Given the description of an element on the screen output the (x, y) to click on. 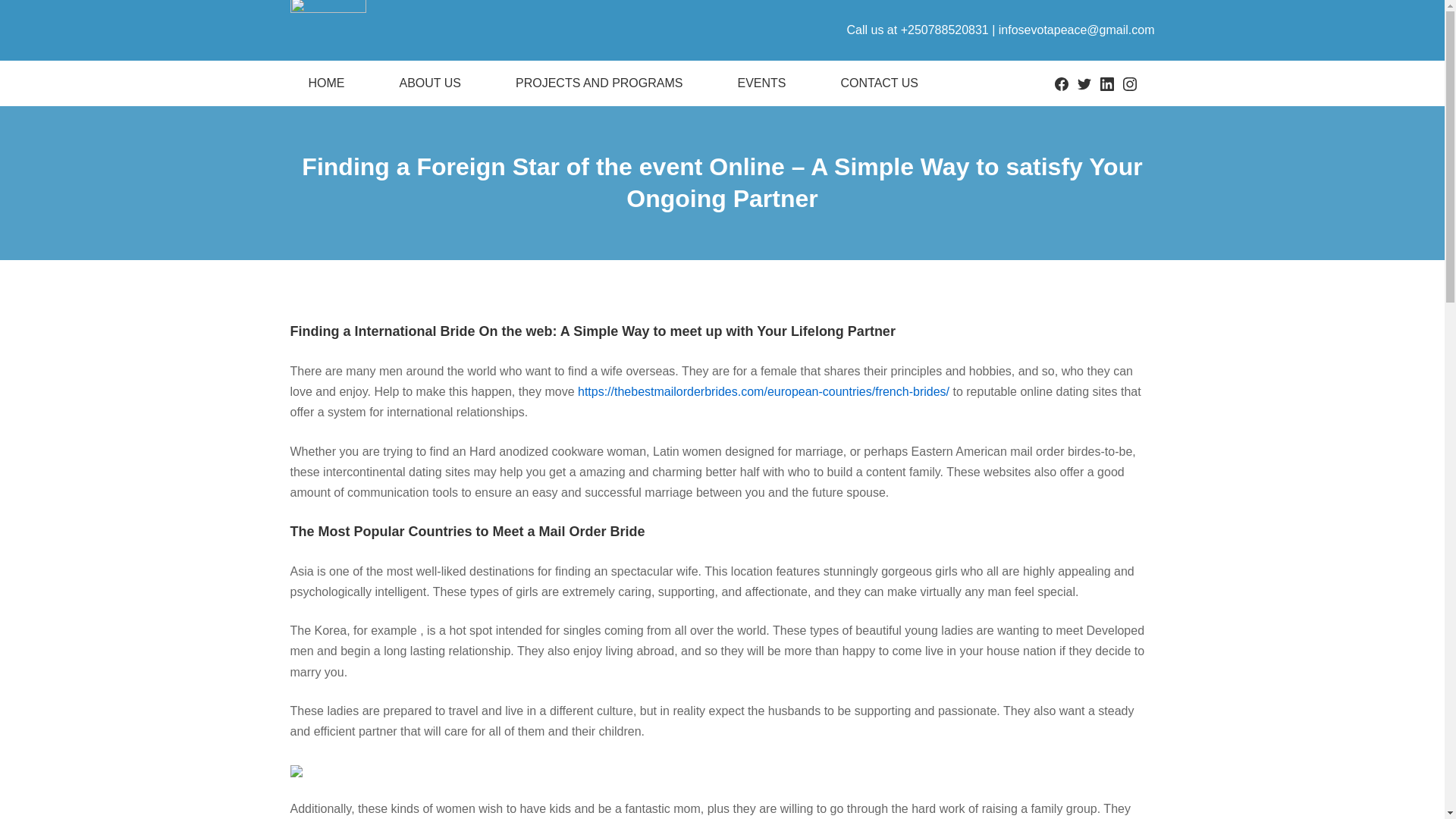
Twitter icon (1083, 83)
LinkedIn (1106, 83)
HOME (326, 83)
PROJECTS AND PROGRAMS (598, 83)
ABOUT US (429, 83)
Twitter (1083, 83)
LinkedIn icon (1106, 83)
CONTACT US (878, 83)
EVENTS (761, 83)
Instagram (1128, 83)
Facebook (1060, 83)
Instagram icon (1128, 83)
